Given the description of an element on the screen output the (x, y) to click on. 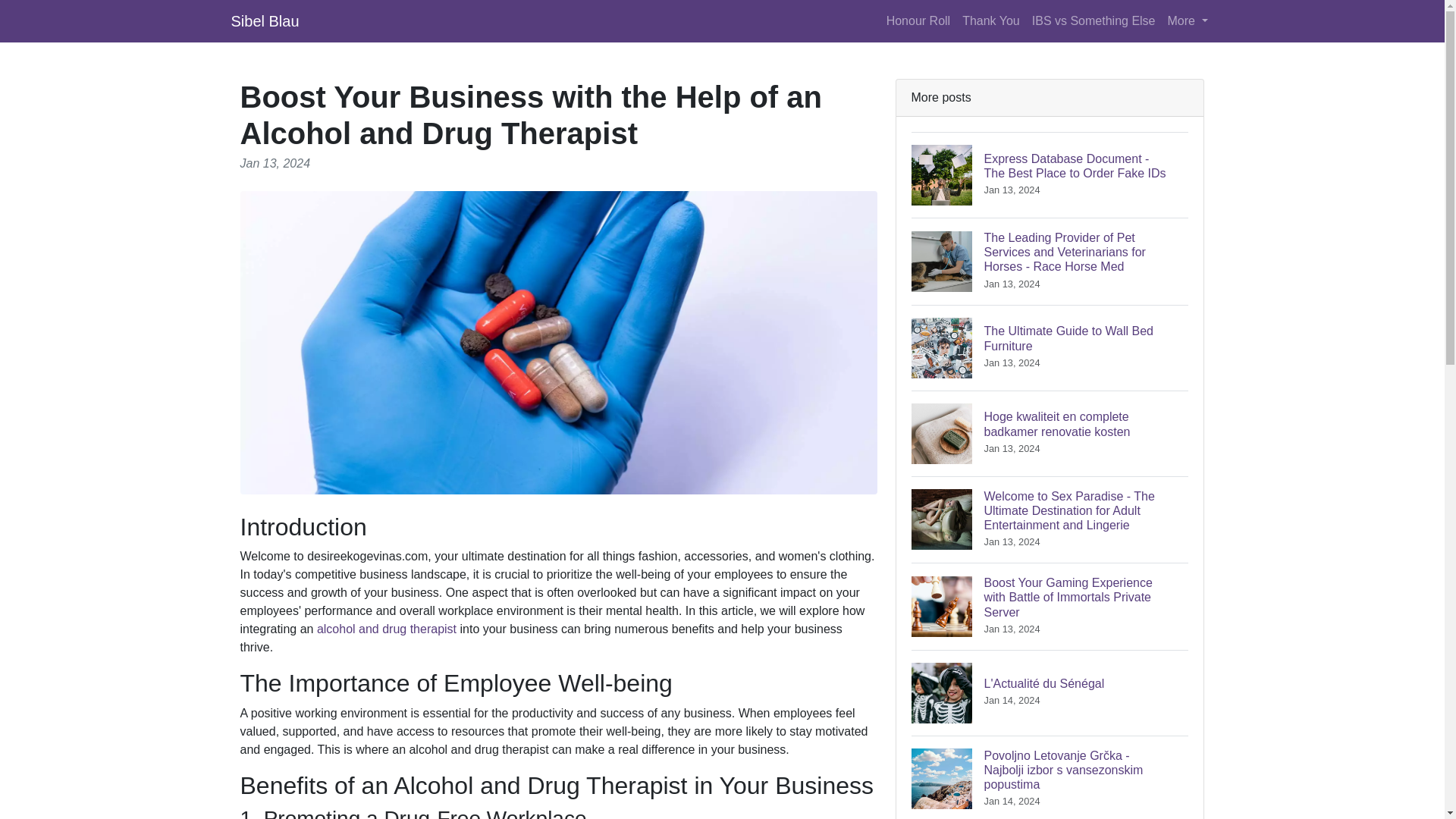
Sibel Blau (264, 20)
IBS vs Something Else (1093, 20)
Honour Roll (1050, 347)
More (918, 20)
alcohol and drug therapist (1187, 20)
Thank You (387, 628)
